Given the description of an element on the screen output the (x, y) to click on. 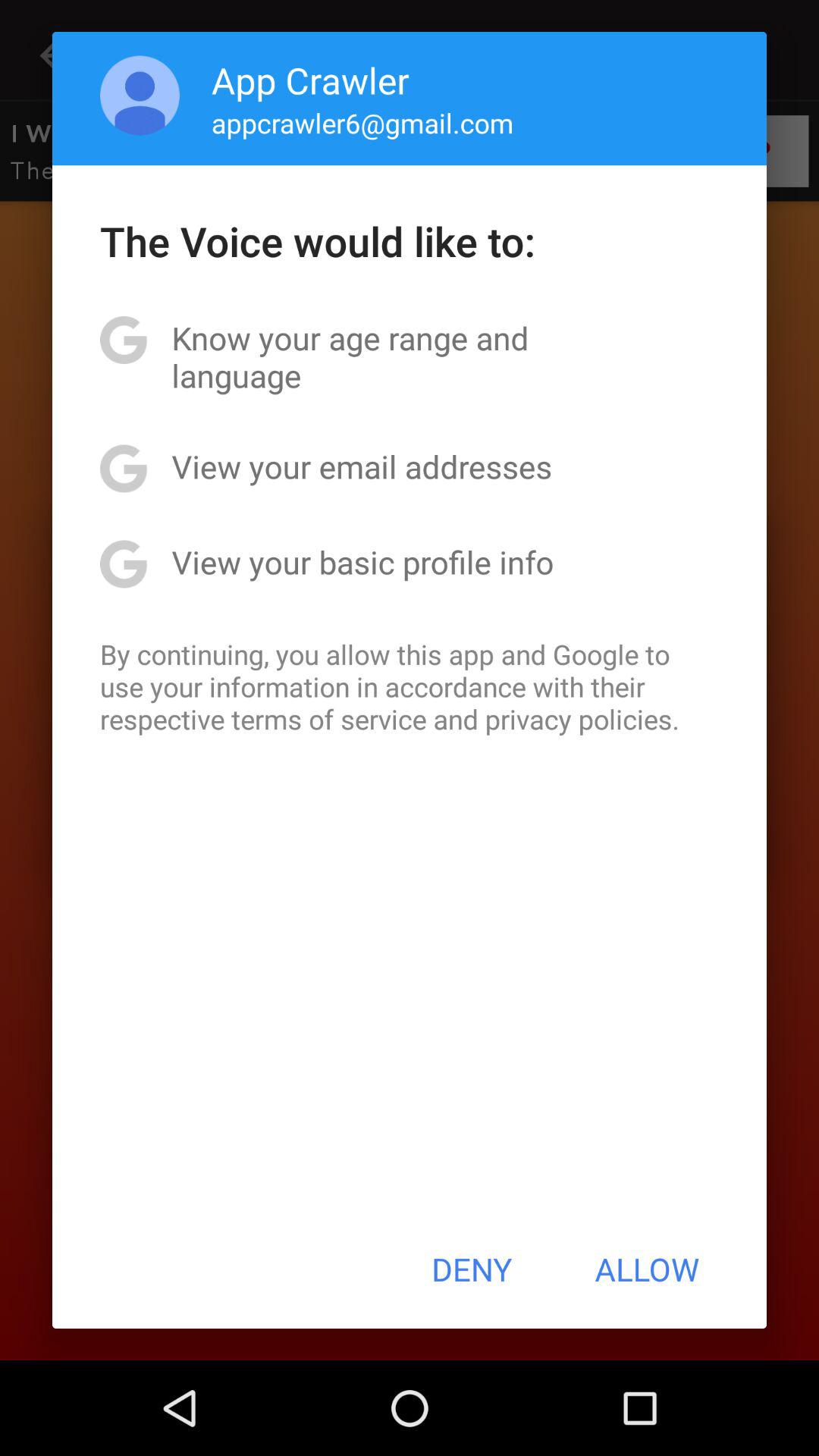
jump until the app crawler app (310, 79)
